Given the description of an element on the screen output the (x, y) to click on. 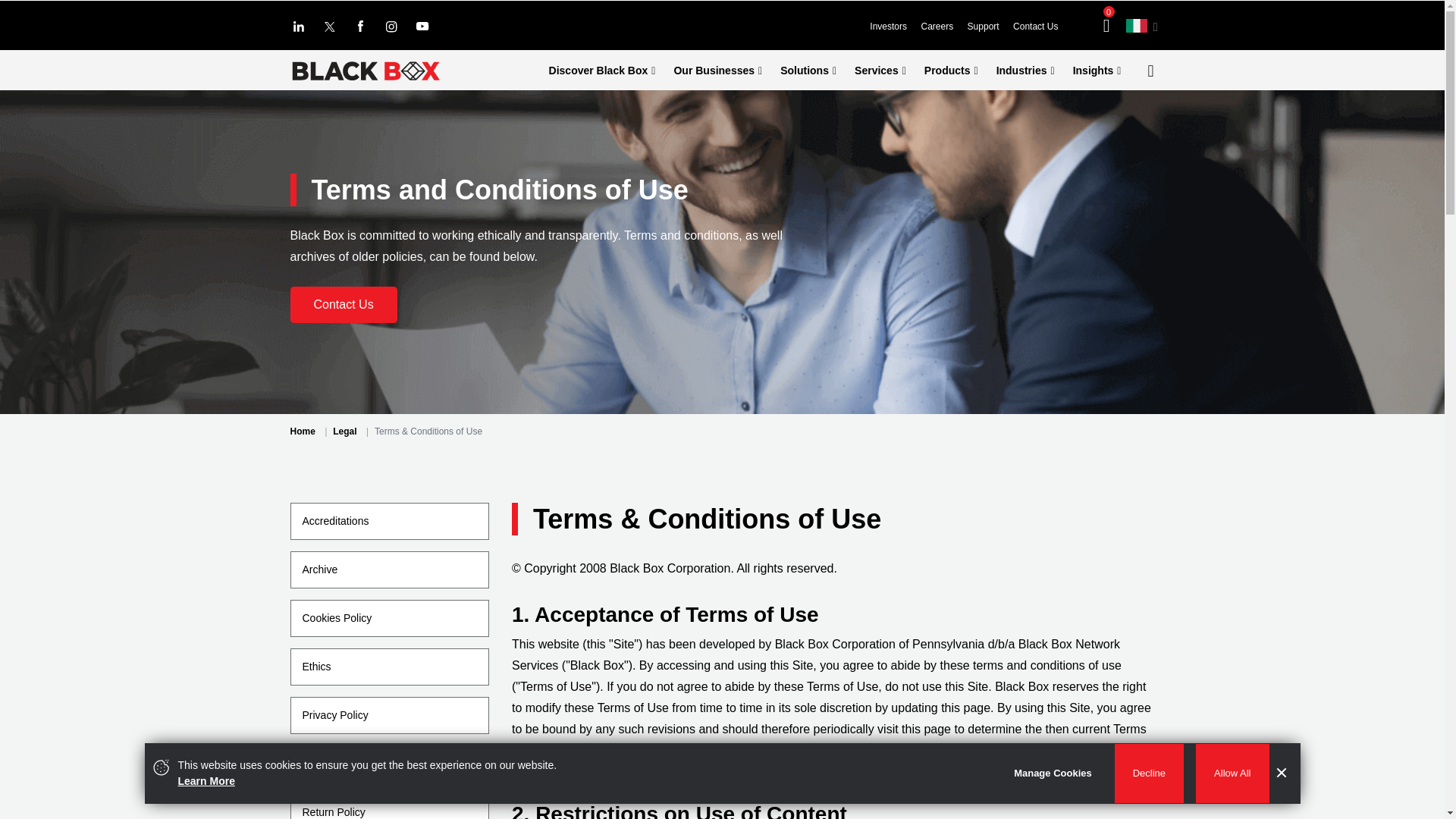
Discover Black Box (602, 70)
Support (989, 26)
Careers (941, 26)
Solutions (808, 70)
Contact Us (1040, 26)
Our Businesses (717, 70)
Investors (893, 26)
0 (1114, 24)
